Given the description of an element on the screen output the (x, y) to click on. 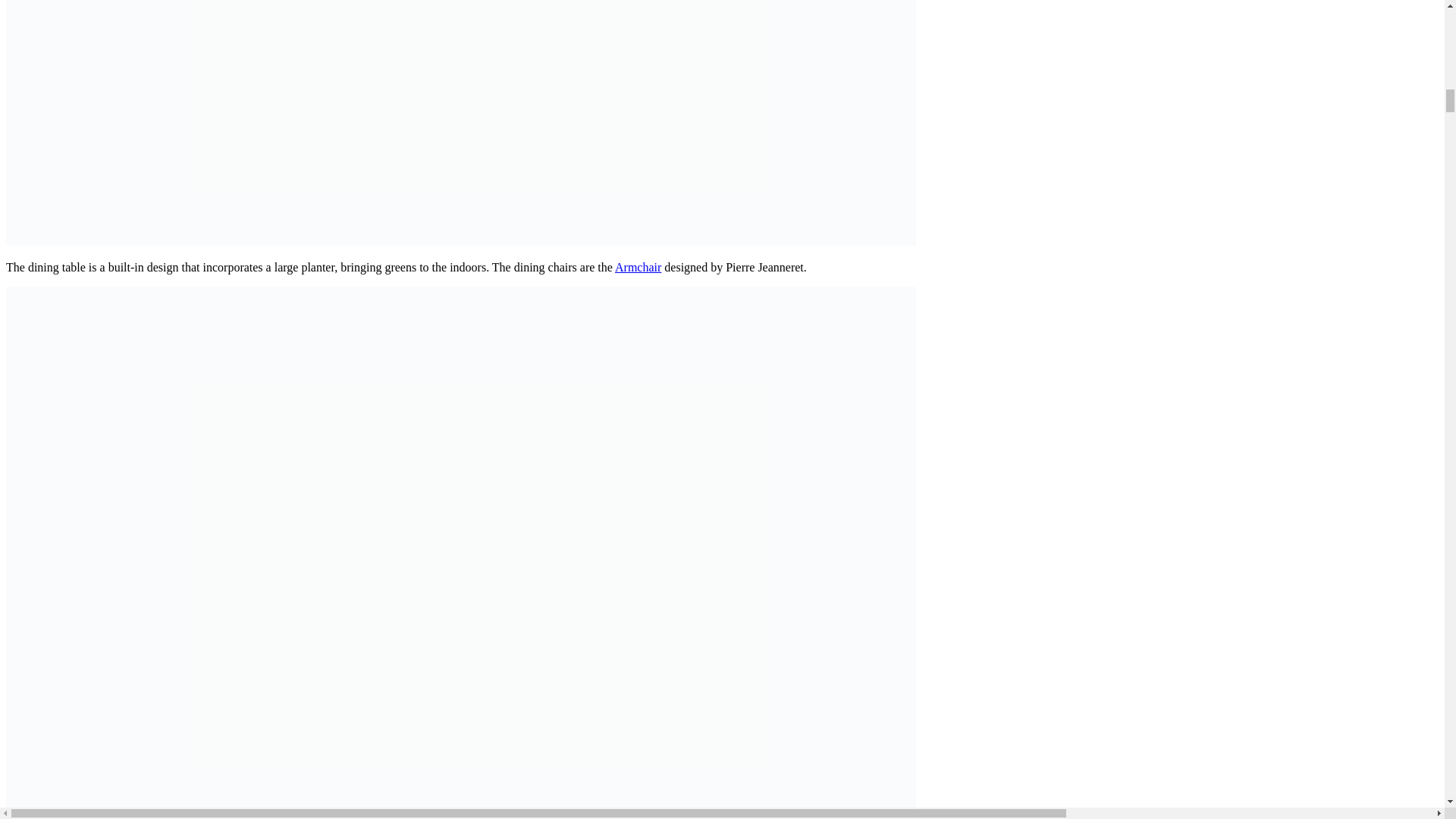
Armchair (637, 267)
